Given the description of an element on the screen output the (x, y) to click on. 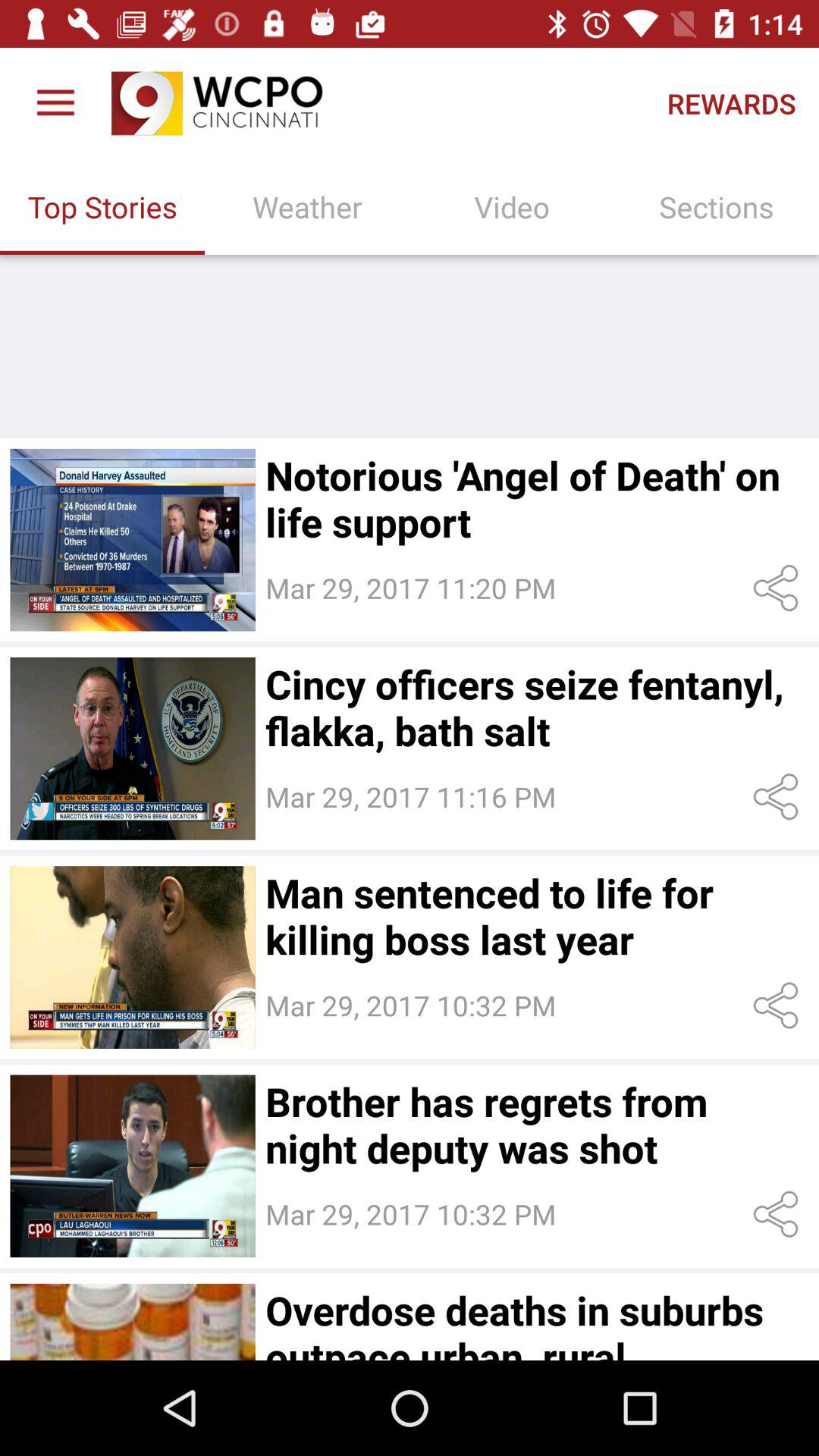
go to video (132, 1321)
